Given the description of an element on the screen output the (x, y) to click on. 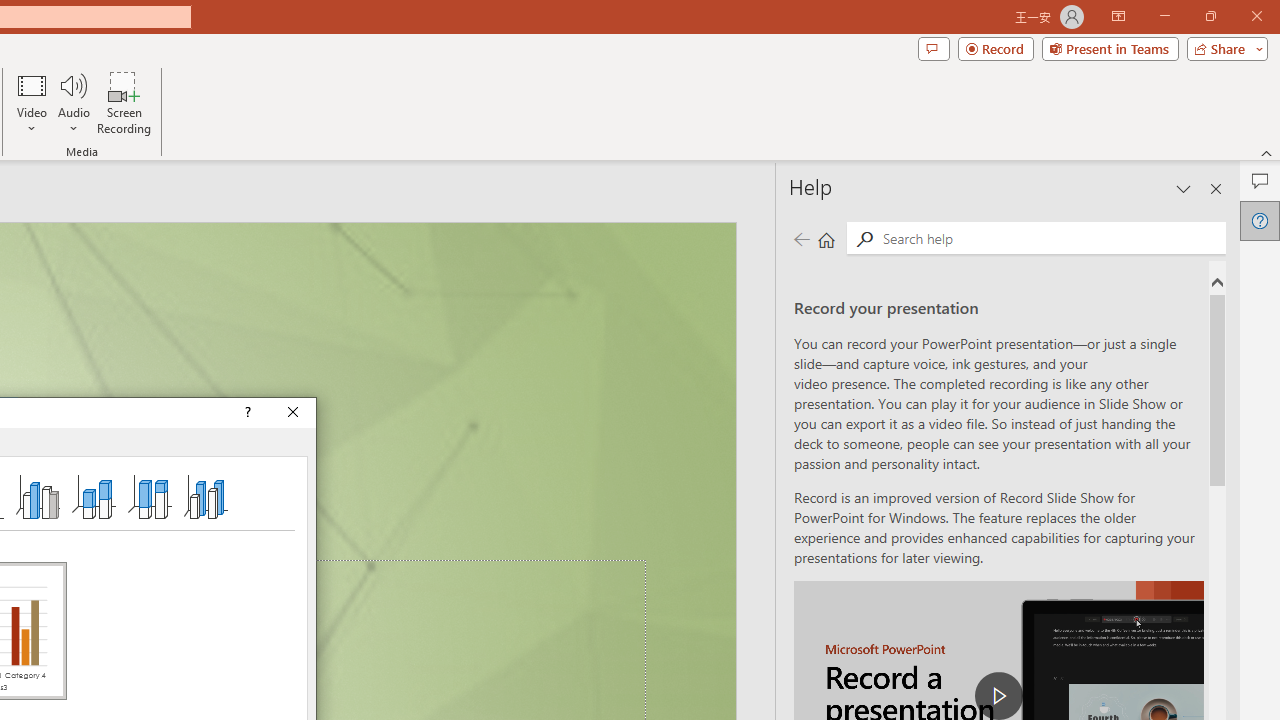
3-D 100% Stacked Column (149, 496)
3-D Stacked Column (93, 496)
Video (31, 102)
Previous page (801, 238)
play Record a Presentation (998, 695)
Screen Recording... (123, 102)
